Given the description of an element on the screen output the (x, y) to click on. 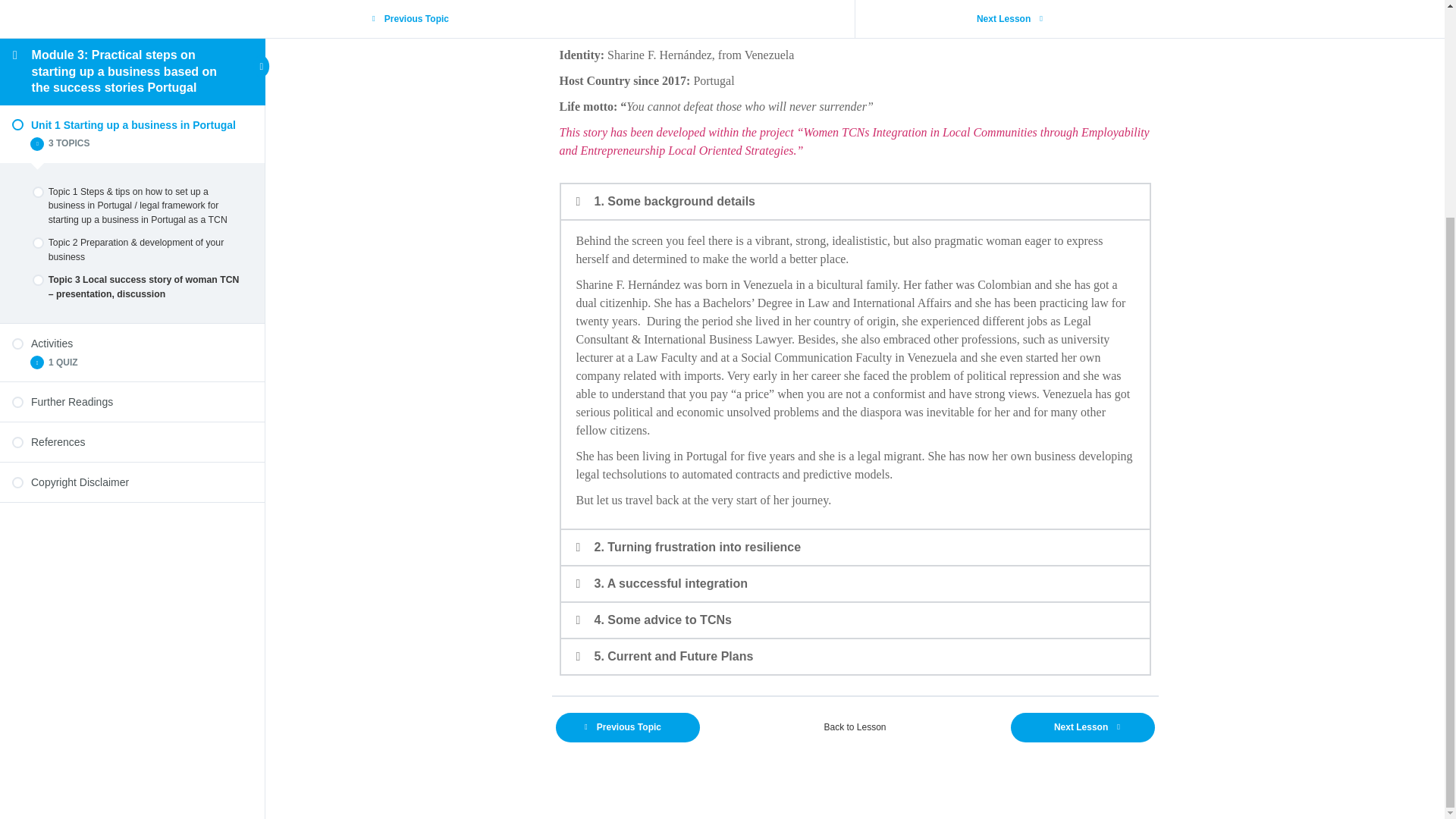
Further Readings (131, 114)
Previous Topic (626, 727)
Copyright Disclaimer (131, 195)
References (131, 155)
3. A successful integration (671, 583)
1. Some background details (674, 201)
Back to Lesson (855, 727)
2. Turning frustration into resilience (698, 546)
4. Some advice to TCNs (663, 619)
Next Lesson (1082, 727)
5. Current and Future Plans (674, 656)
Activities (131, 56)
